Given the description of an element on the screen output the (x, y) to click on. 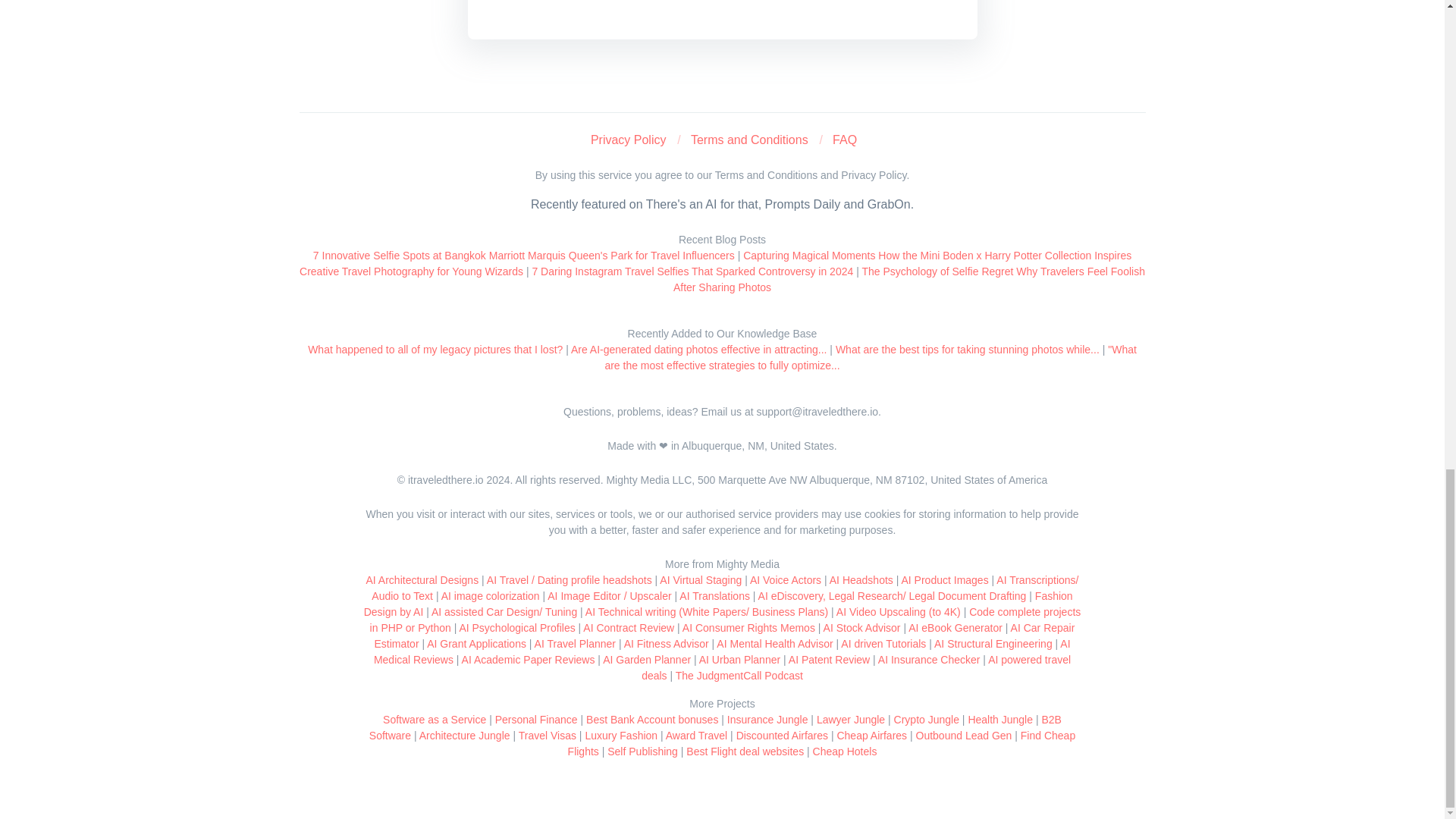
AI image colorization (490, 595)
What happened to all of my legacy pictures that I lost? (434, 349)
Fashion Design by AI (718, 603)
AI Voice Actors (785, 580)
FAQ (844, 139)
AI Headshots (861, 580)
AI Translations (714, 595)
AI Virtual Staging (700, 580)
